Given the description of an element on the screen output the (x, y) to click on. 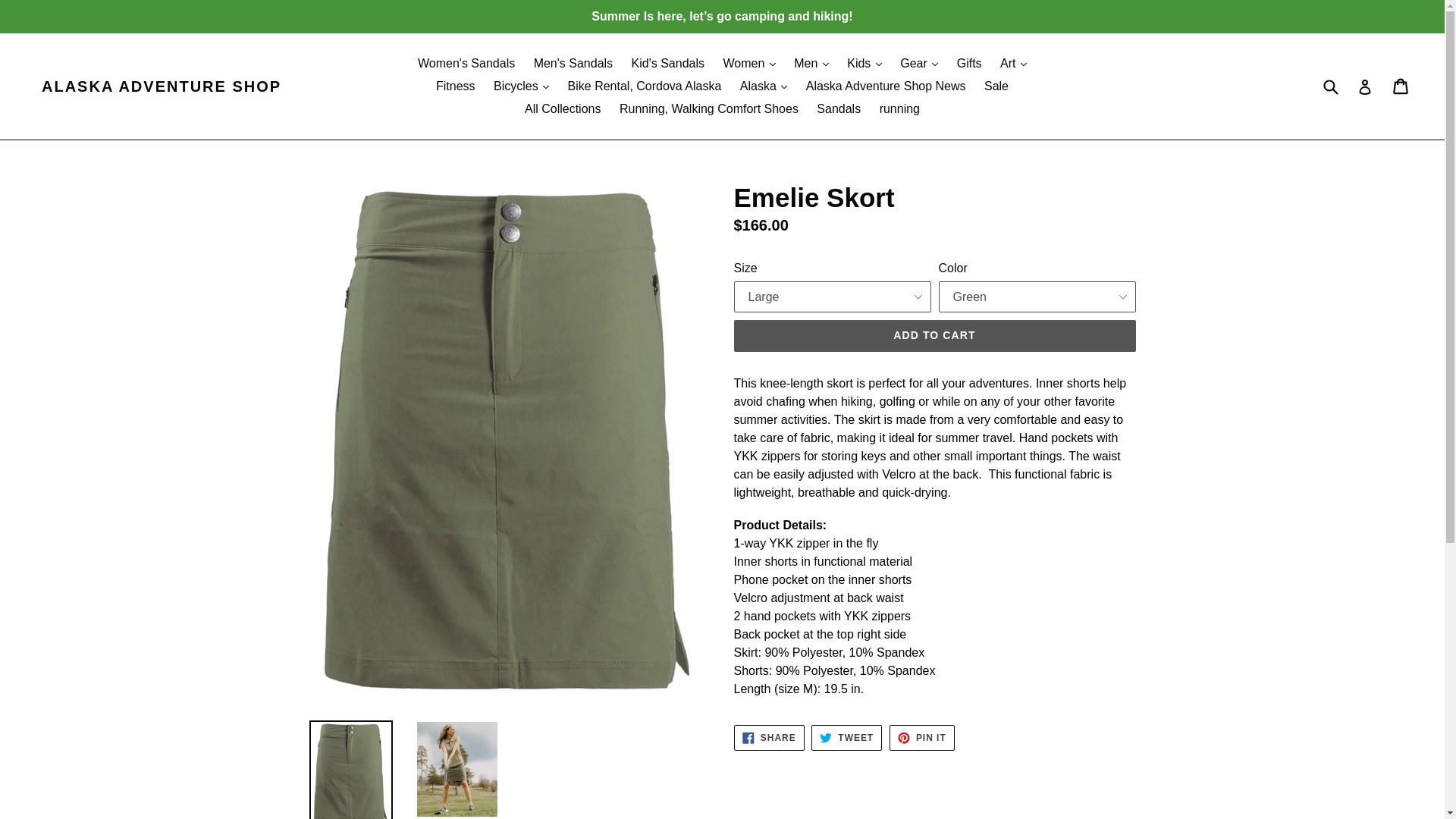
Pin on Pinterest (922, 737)
Tweet on Twitter (846, 737)
Share on Facebook (769, 737)
